Given the description of an element on the screen output the (x, y) to click on. 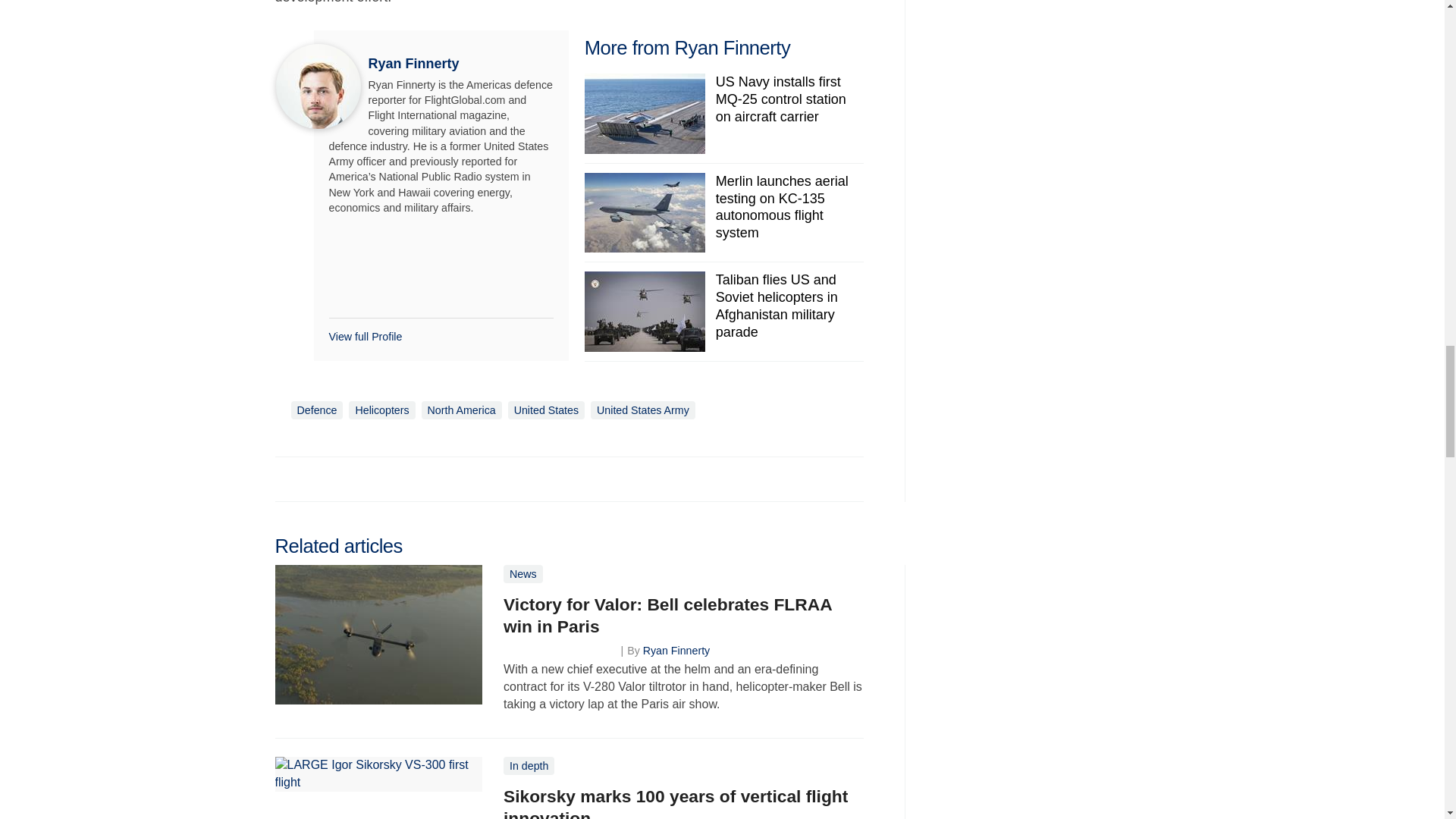
Share this on Linked in (352, 478)
Email this article (386, 478)
Share this on Twitter (320, 478)
Share this on Facebook (288, 478)
